Given the description of an element on the screen output the (x, y) to click on. 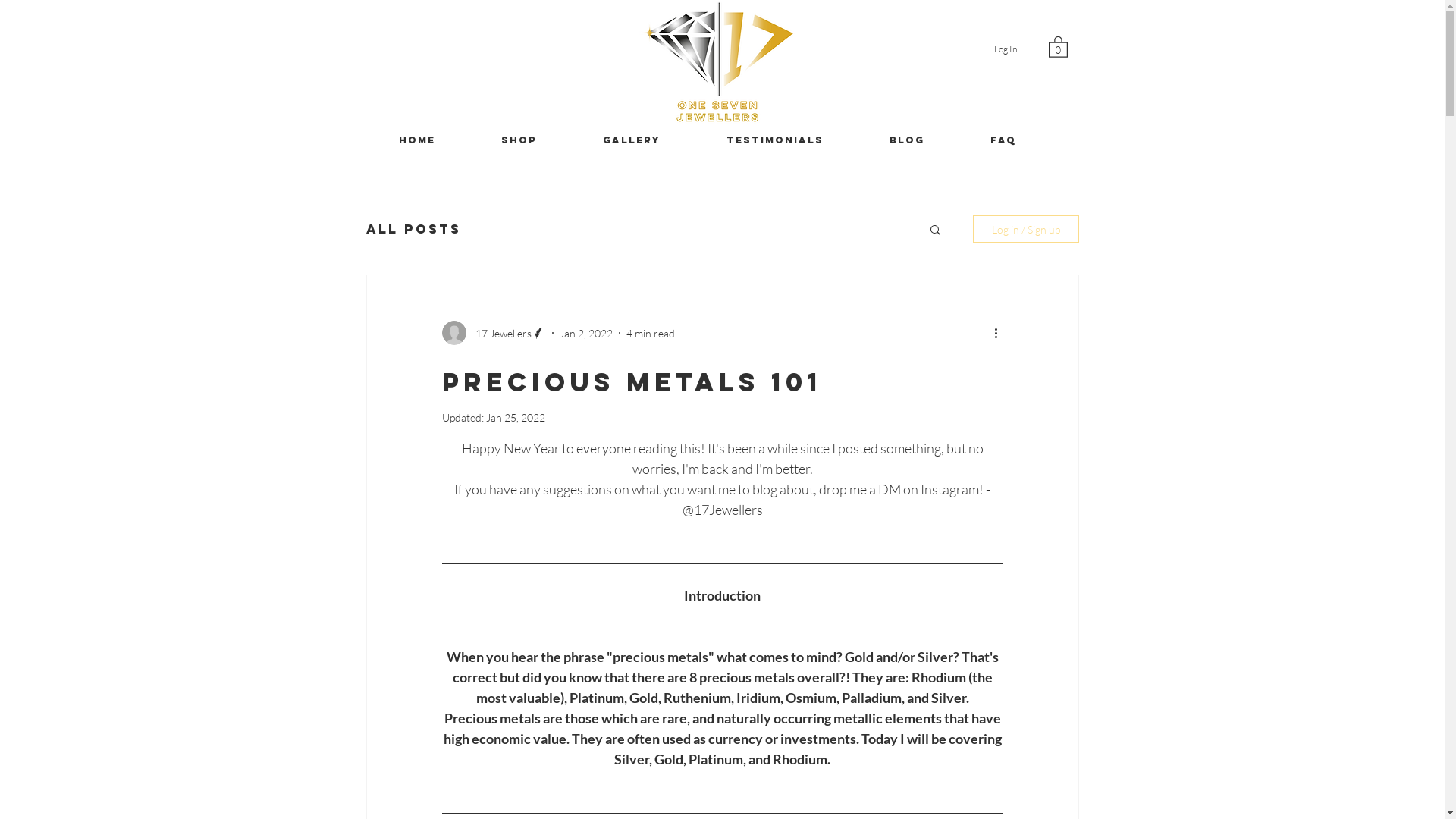
Log In Element type: text (1004, 49)
Log in / Sign up Element type: text (1025, 228)
Home Element type: text (416, 139)
Testimonials Element type: text (774, 139)
17 Jewellers Element type: text (493, 332)
Blog Element type: text (906, 139)
FAQ Element type: text (1002, 139)
Gallery Element type: text (631, 139)
Shop Element type: text (519, 139)
0 Element type: text (1057, 45)
All Posts Element type: text (412, 228)
